Given the description of an element on the screen output the (x, y) to click on. 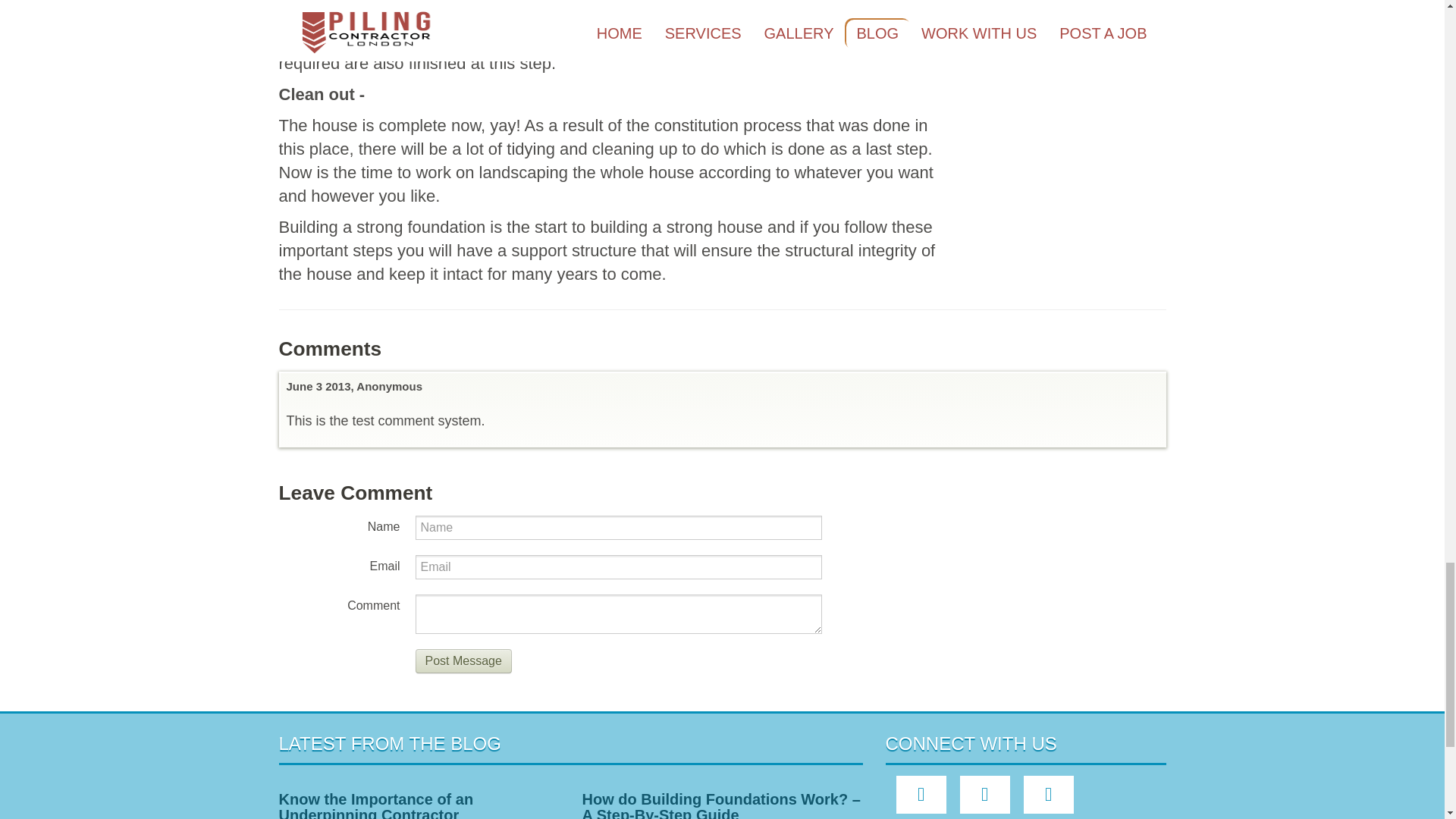
Post Message (463, 661)
Post Message (463, 661)
Know the Importance of an Underpinning Contractor (376, 805)
